Given the description of an element on the screen output the (x, y) to click on. 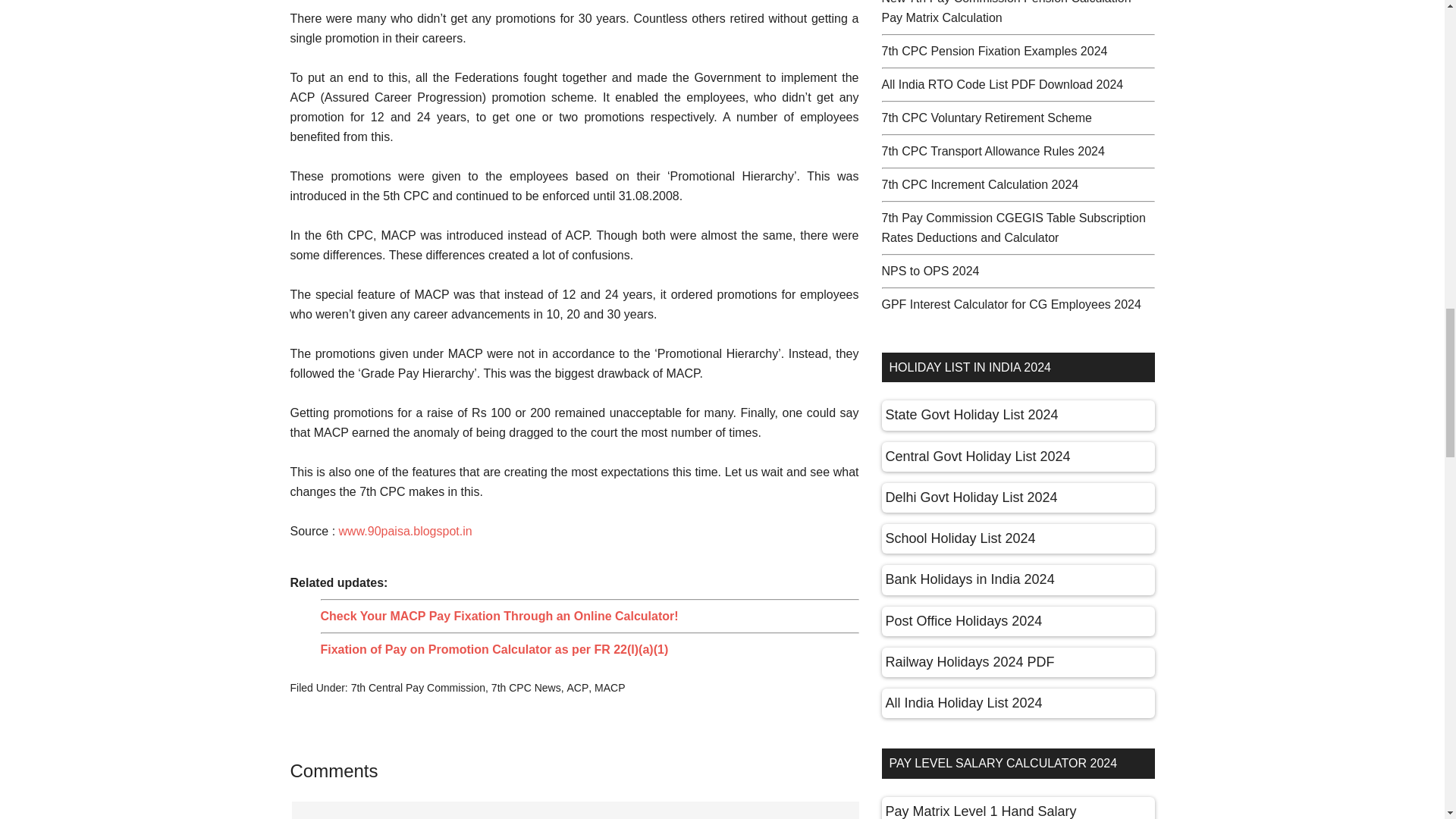
Check Your MACP Pay Fixation Through an Online Calculator! (499, 615)
MACP (609, 687)
7th CPC News (526, 687)
www.90paisa.blogspot.in (405, 530)
ACP (577, 687)
7th Central Pay Commission (417, 687)
Check Your MACP Pay Fixation Through an Online Calculator! (499, 615)
